Given the description of an element on the screen output the (x, y) to click on. 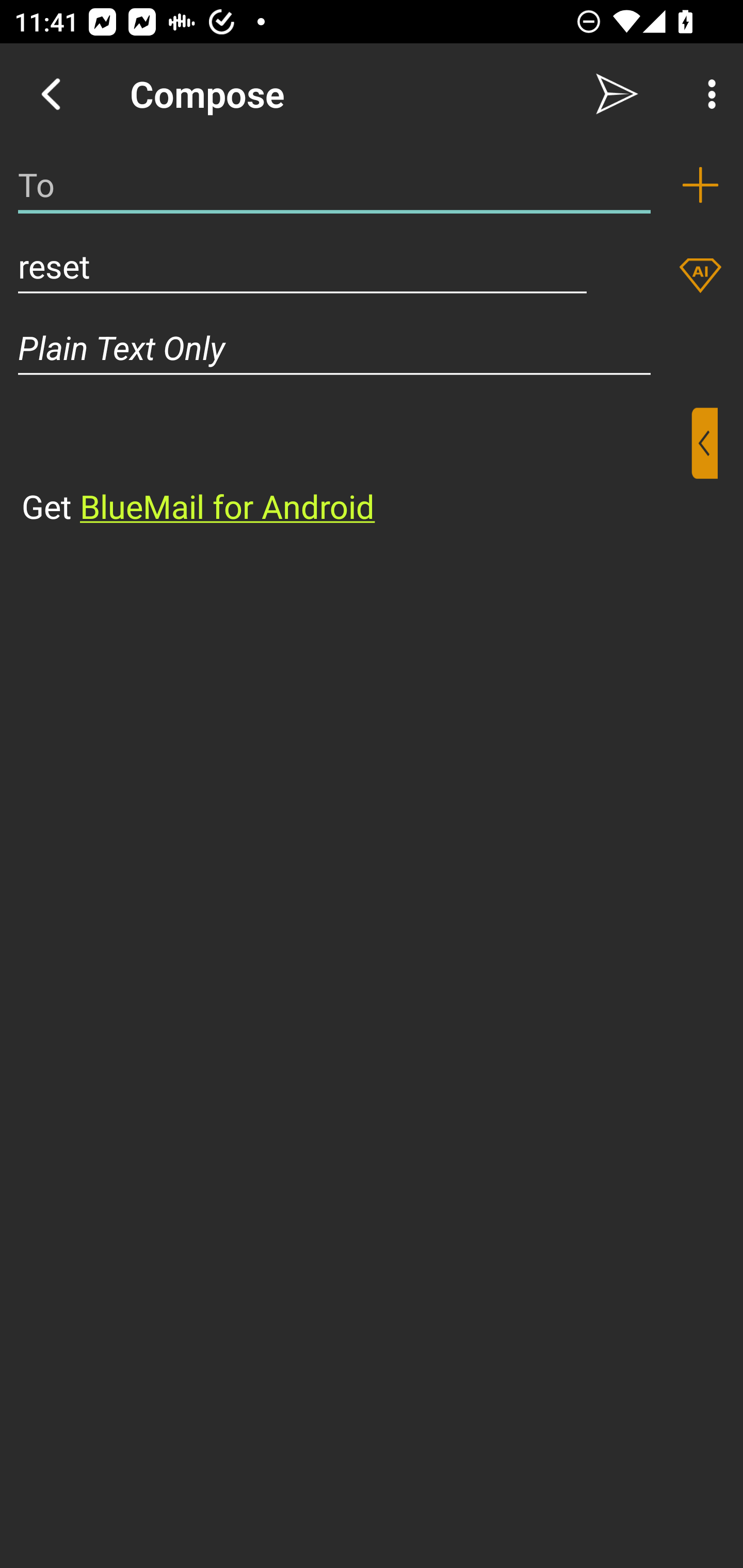
Navigate up (50, 93)
Send (616, 93)
More Options (706, 93)
To (334, 184)
Add recipient (To) (699, 184)
reset (302, 266)
Plain Text Only (371, 347)


⁣Get BlueMail for Android ​ (355, 468)
